Given the description of an element on the screen output the (x, y) to click on. 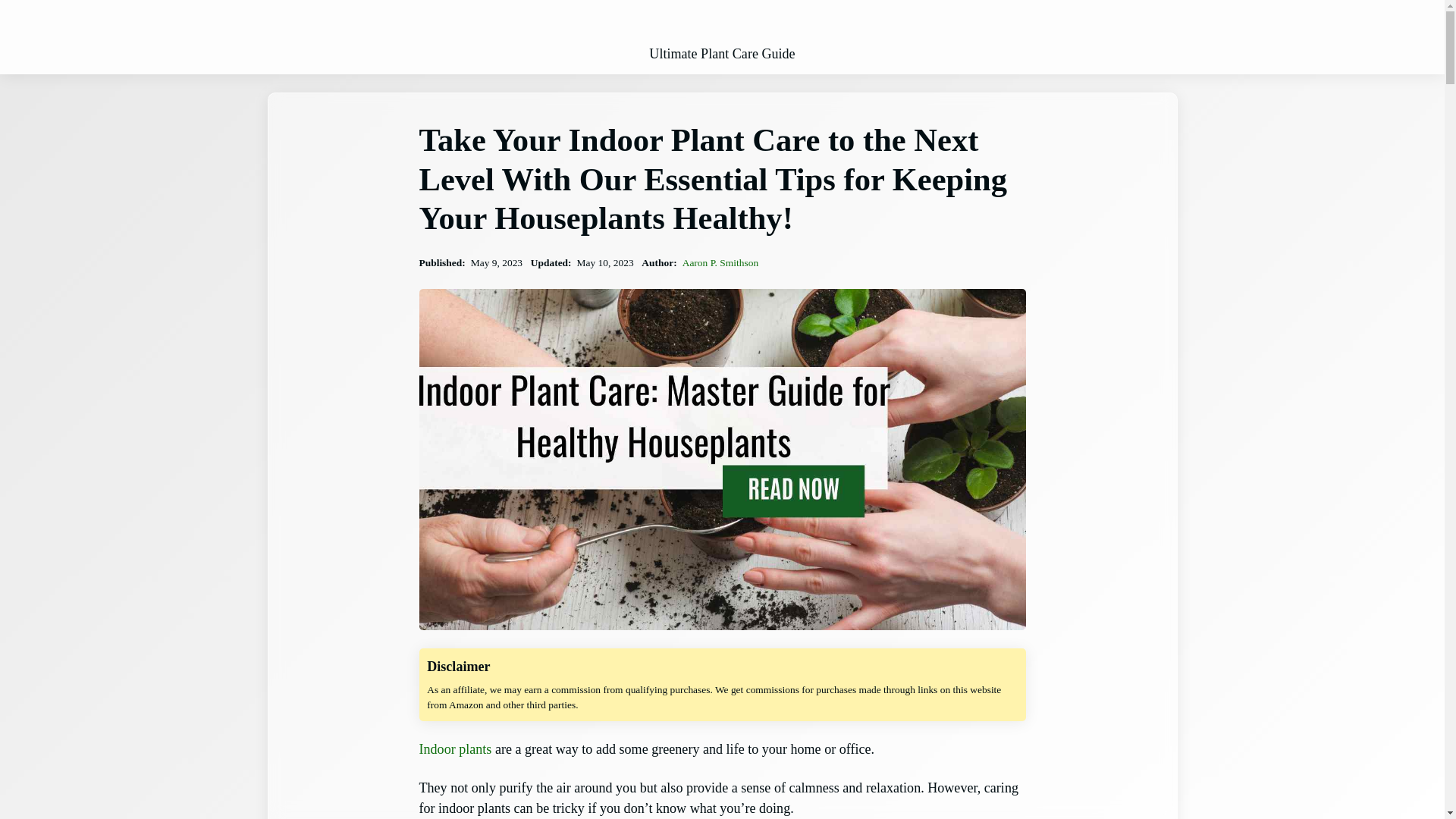
Aaron P. Smithson (720, 262)
Ultimate Plant Care Guide (721, 53)
Indoor plants (455, 749)
